Given the description of an element on the screen output the (x, y) to click on. 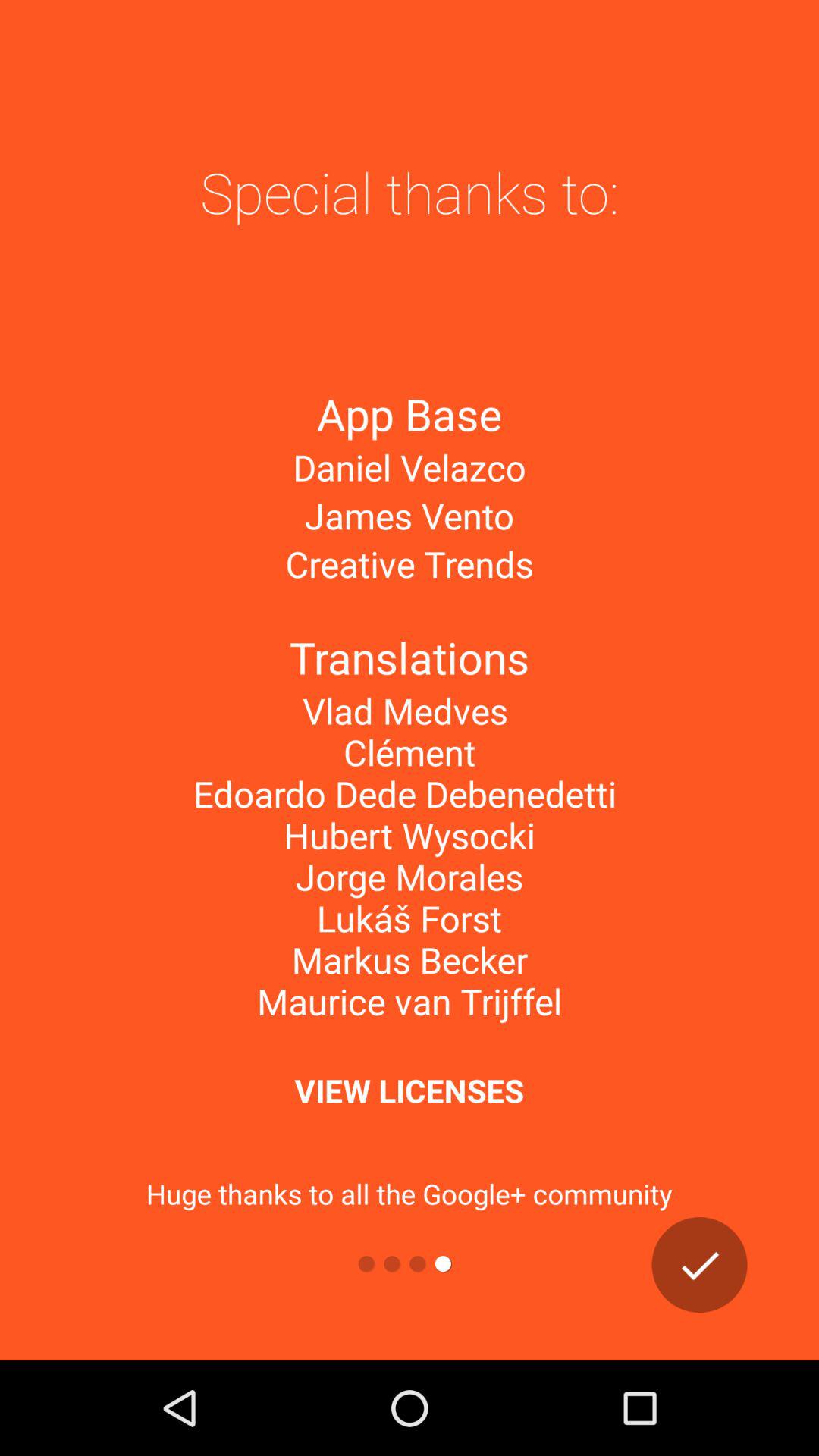
all info correct (699, 1264)
